Given the description of an element on the screen output the (x, y) to click on. 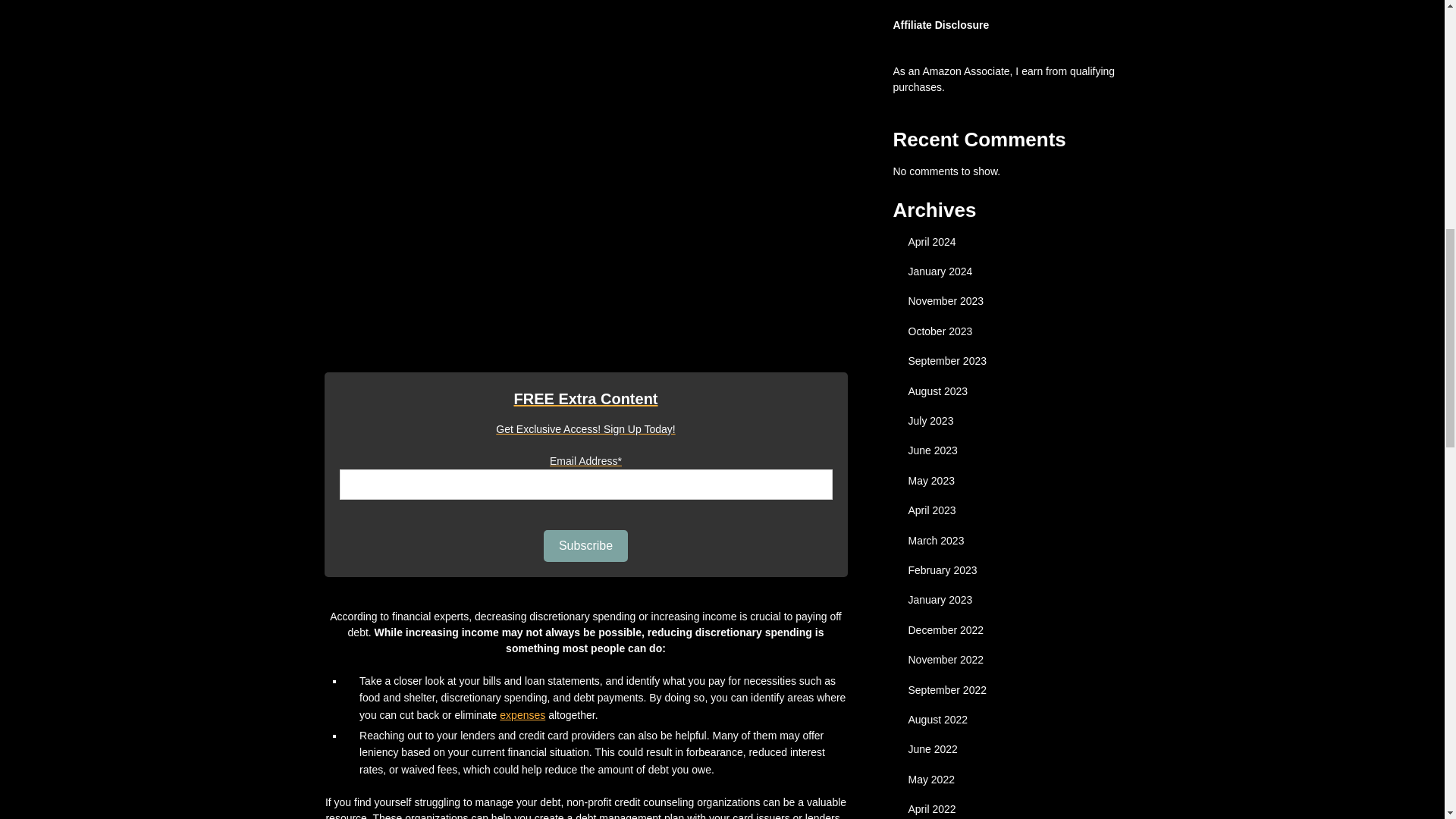
April 2024 (932, 241)
March 2023 (935, 540)
November 2022 (946, 659)
February 2023 (942, 570)
June 2023 (933, 450)
expenses (521, 715)
January 2024 (940, 271)
January 2023 (940, 599)
December 2022 (946, 630)
April 2023 (932, 510)
August 2023 (938, 390)
September 2023 (947, 360)
October 2023 (940, 331)
Subscribe (585, 545)
Subscribe (585, 545)
